Given the description of an element on the screen output the (x, y) to click on. 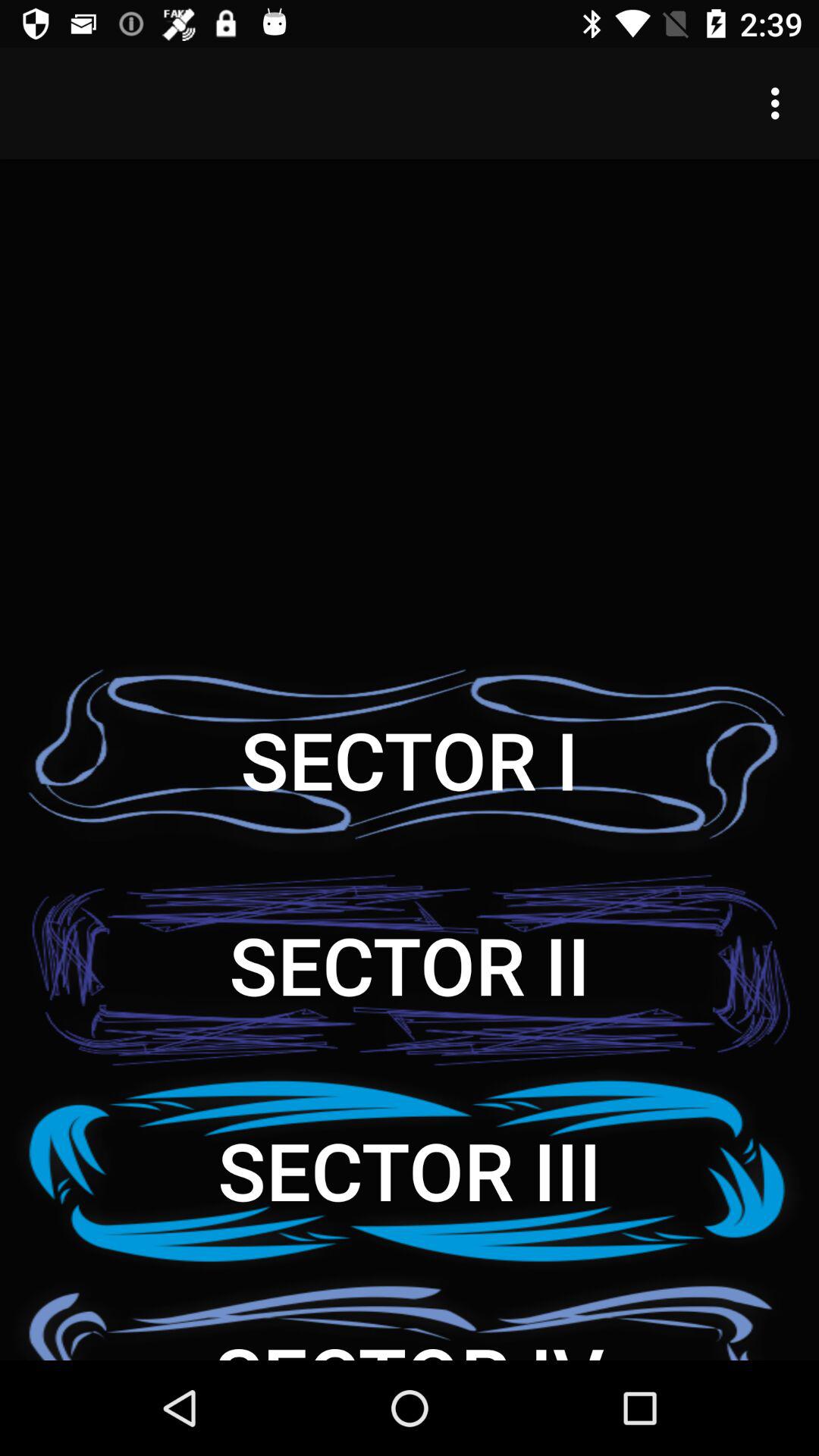
press the sector iv (409, 1316)
